Given the description of an element on the screen output the (x, y) to click on. 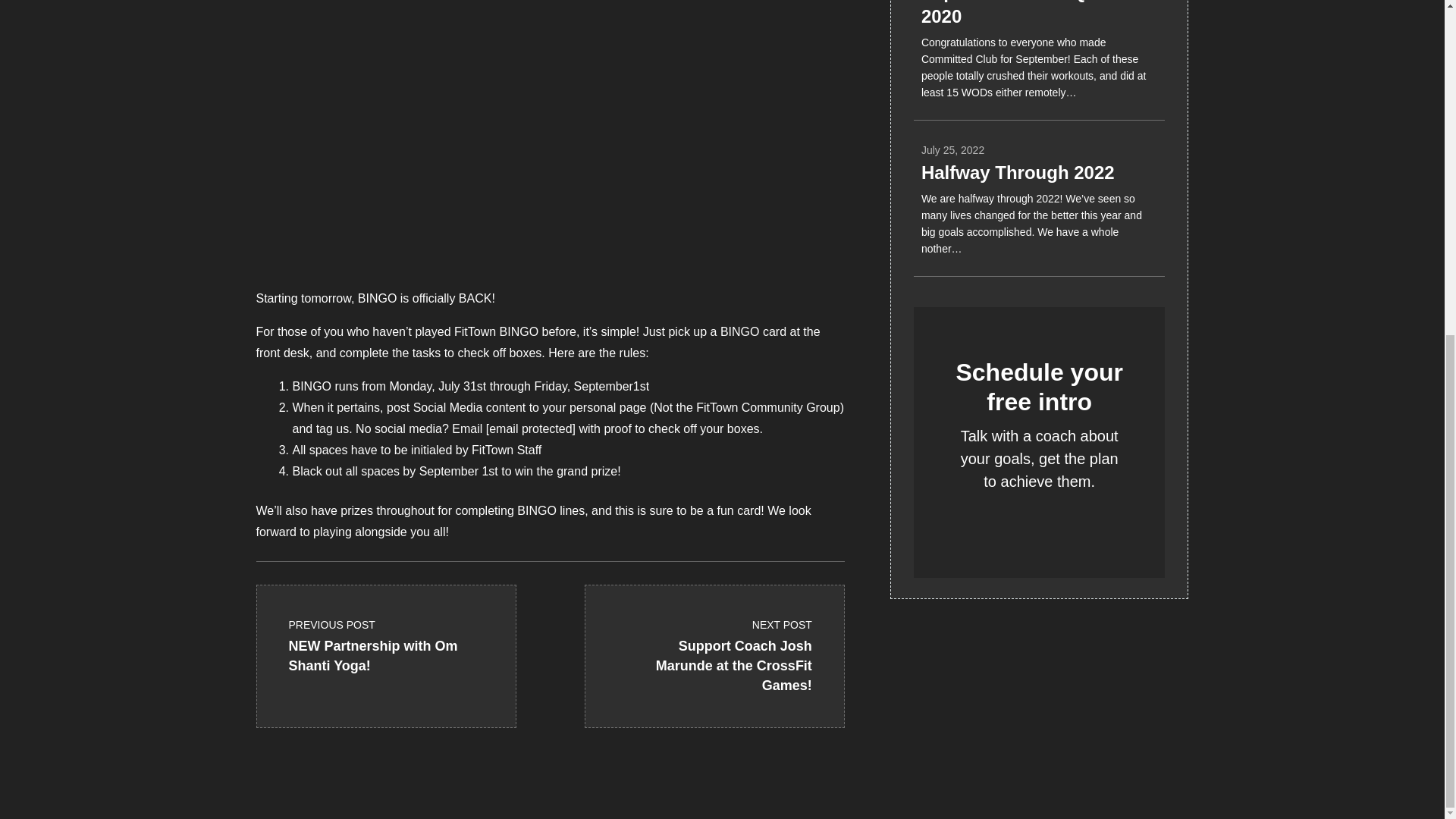
NEW Partnership with Om Shanti Yoga! (385, 632)
Support Coach Josh Marunde at the CrossFit Games! (385, 632)
